Given the description of an element on the screen output the (x, y) to click on. 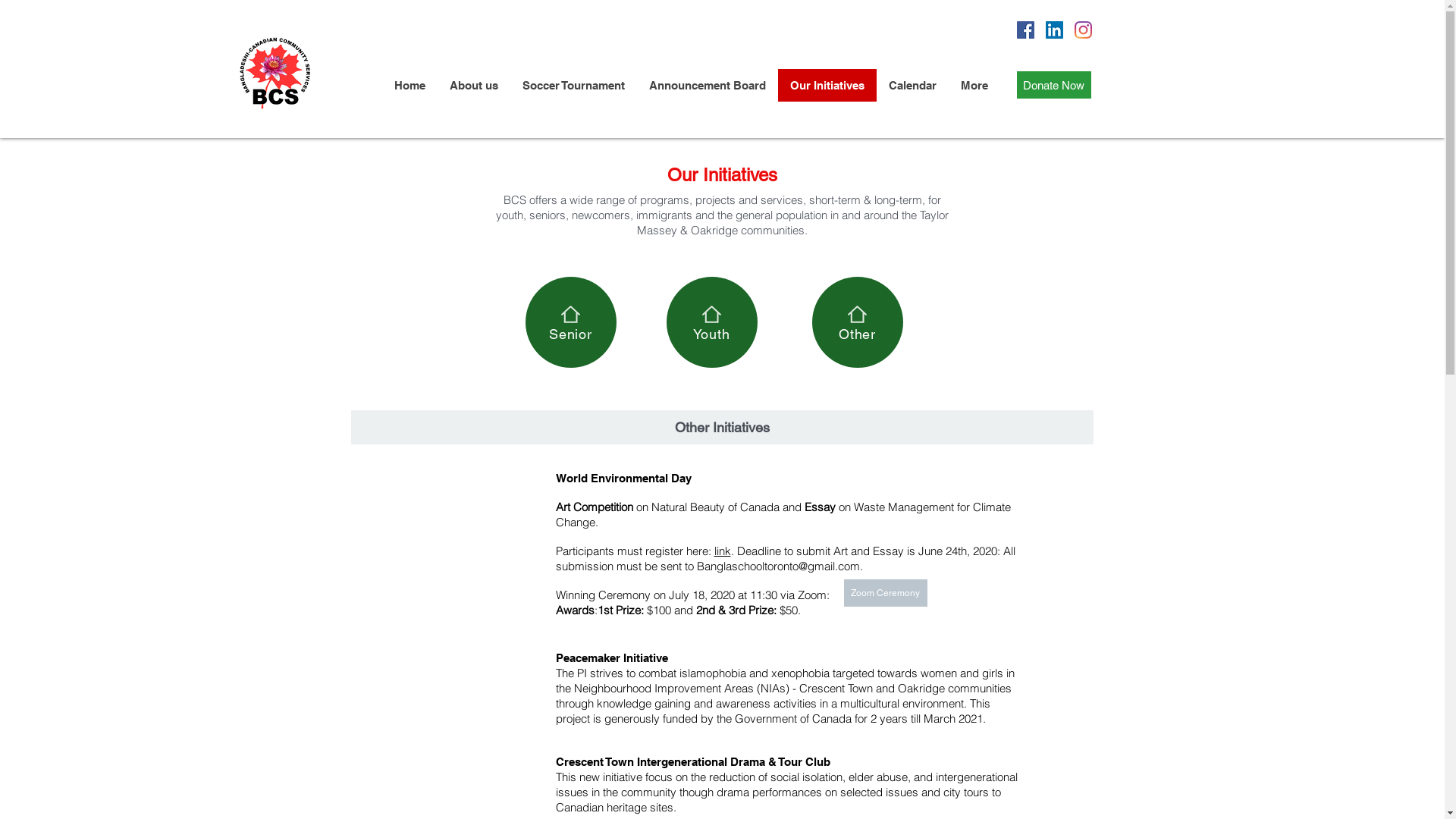
Banglaschooltoronto@gmail.com Element type: text (777, 565)
Our Initiatives Element type: text (827, 85)
Soccer Tournament Element type: text (572, 85)
link Element type: text (722, 550)
Donate Now Element type: text (1053, 84)
Senior Element type: text (569, 321)
Calendar Element type: text (912, 85)
Home Element type: text (409, 85)
Youth Element type: text (710, 321)
Site Search Element type: hover (1008, 124)
Zoom Ceremony Element type: text (884, 592)
About us Element type: text (472, 85)
Other Element type: text (856, 321)
Announcement Board Element type: text (707, 85)
